Given the description of an element on the screen output the (x, y) to click on. 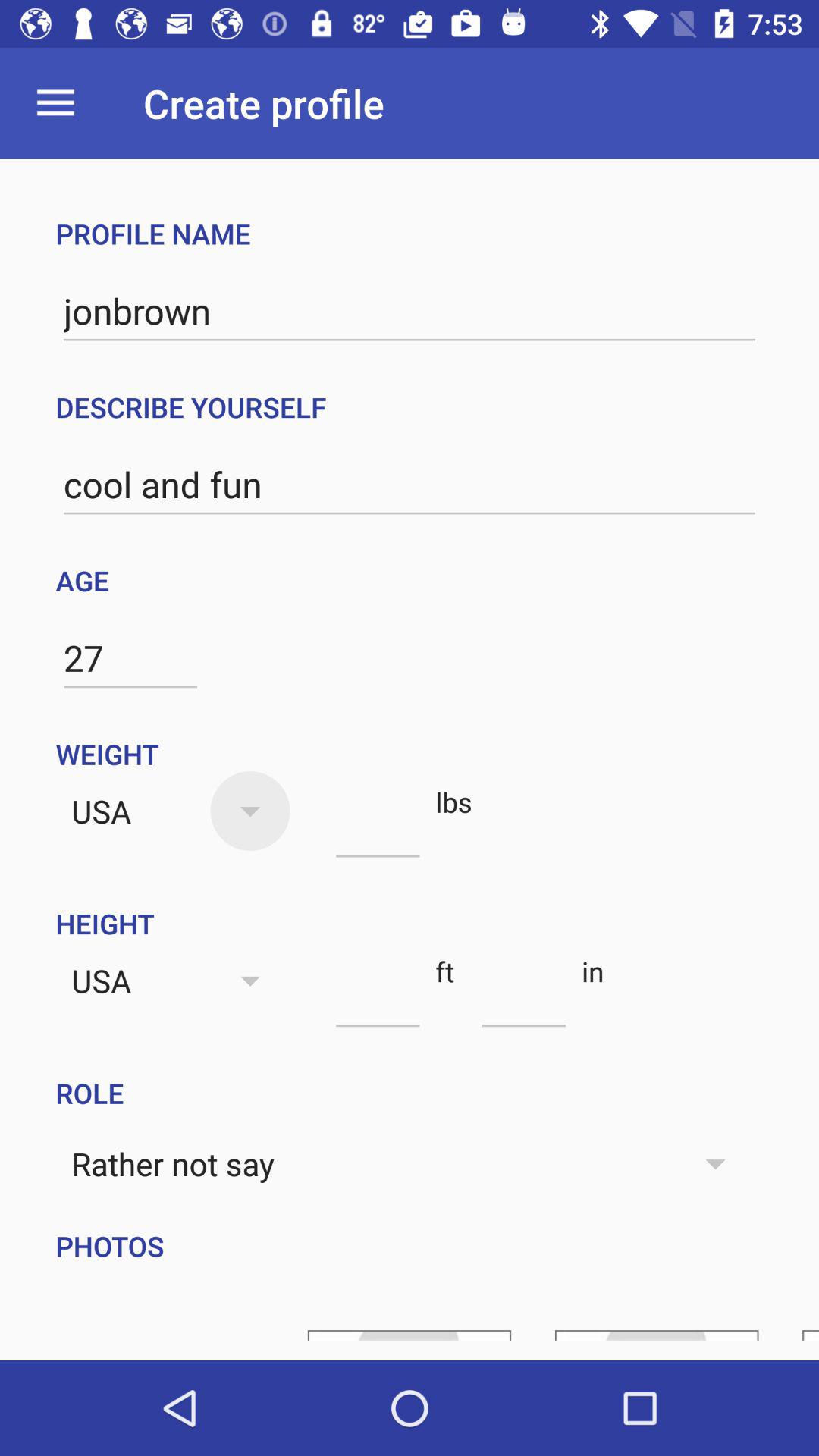
height measurement (377, 999)
